Given the description of an element on the screen output the (x, y) to click on. 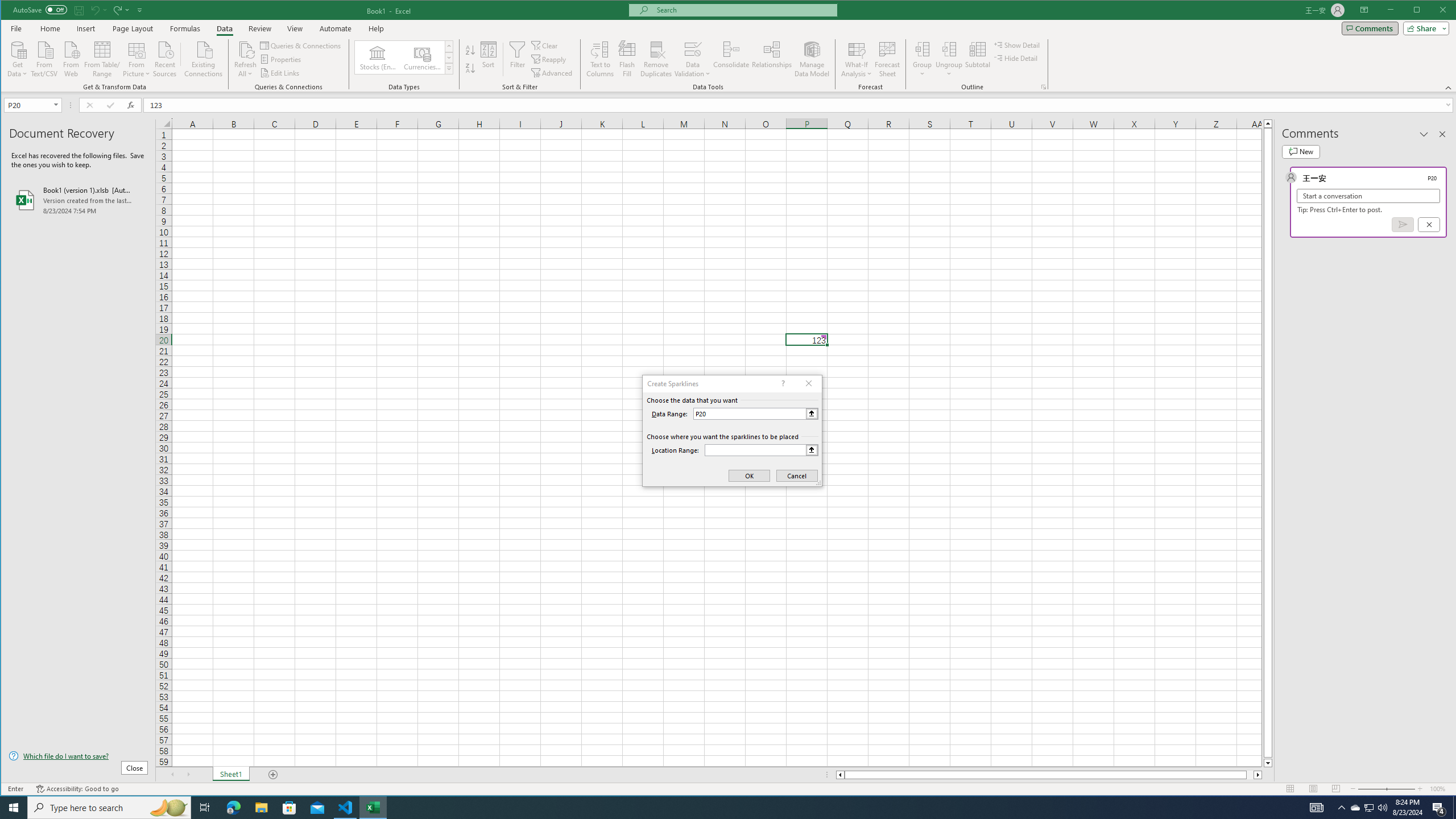
Cancel (1428, 224)
Start a conversation (1368, 195)
